Given the description of an element on the screen output the (x, y) to click on. 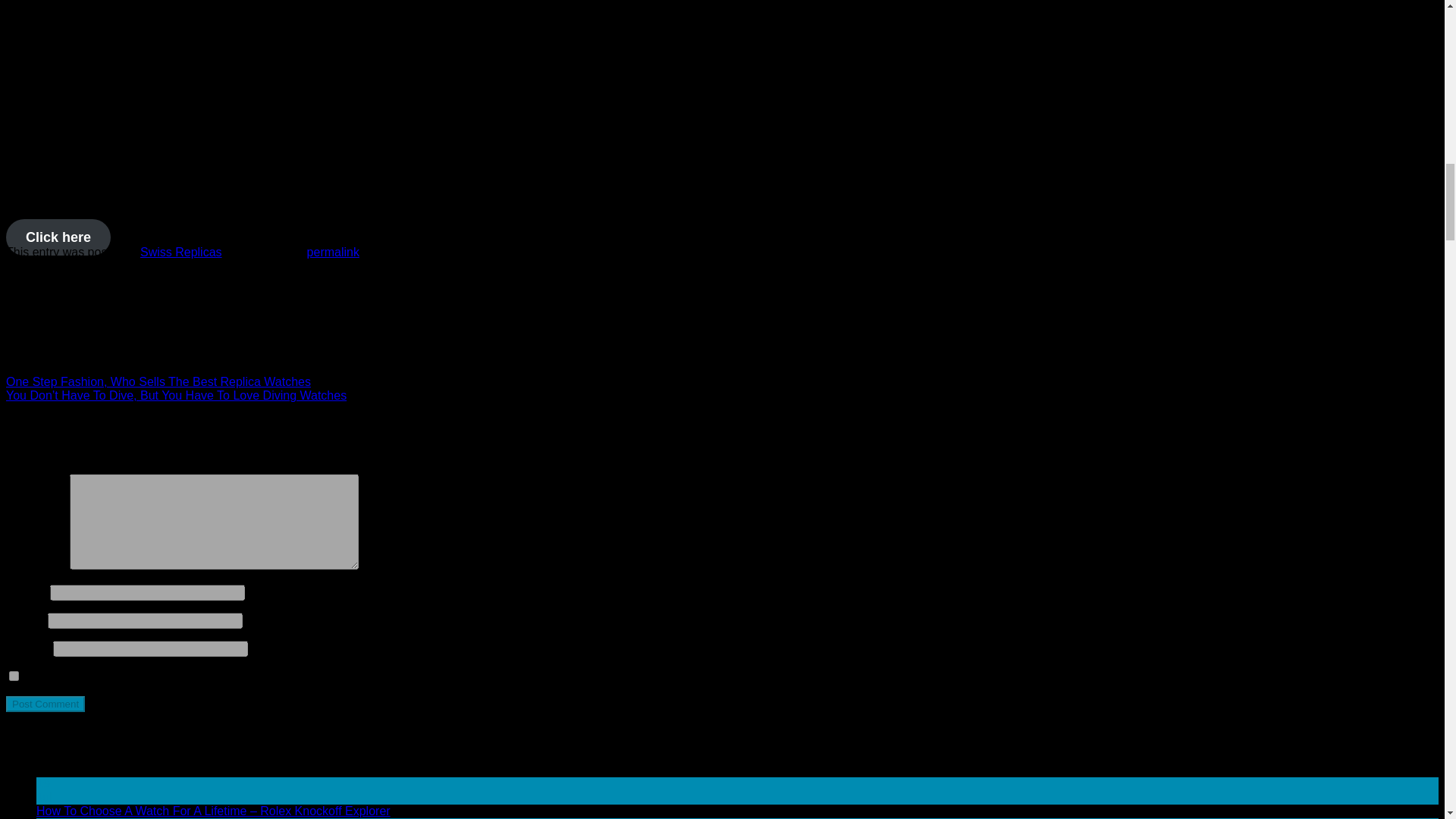
yes (13, 675)
Click here (57, 237)
Post Comment (44, 703)
